Given the description of an element on the screen output the (x, y) to click on. 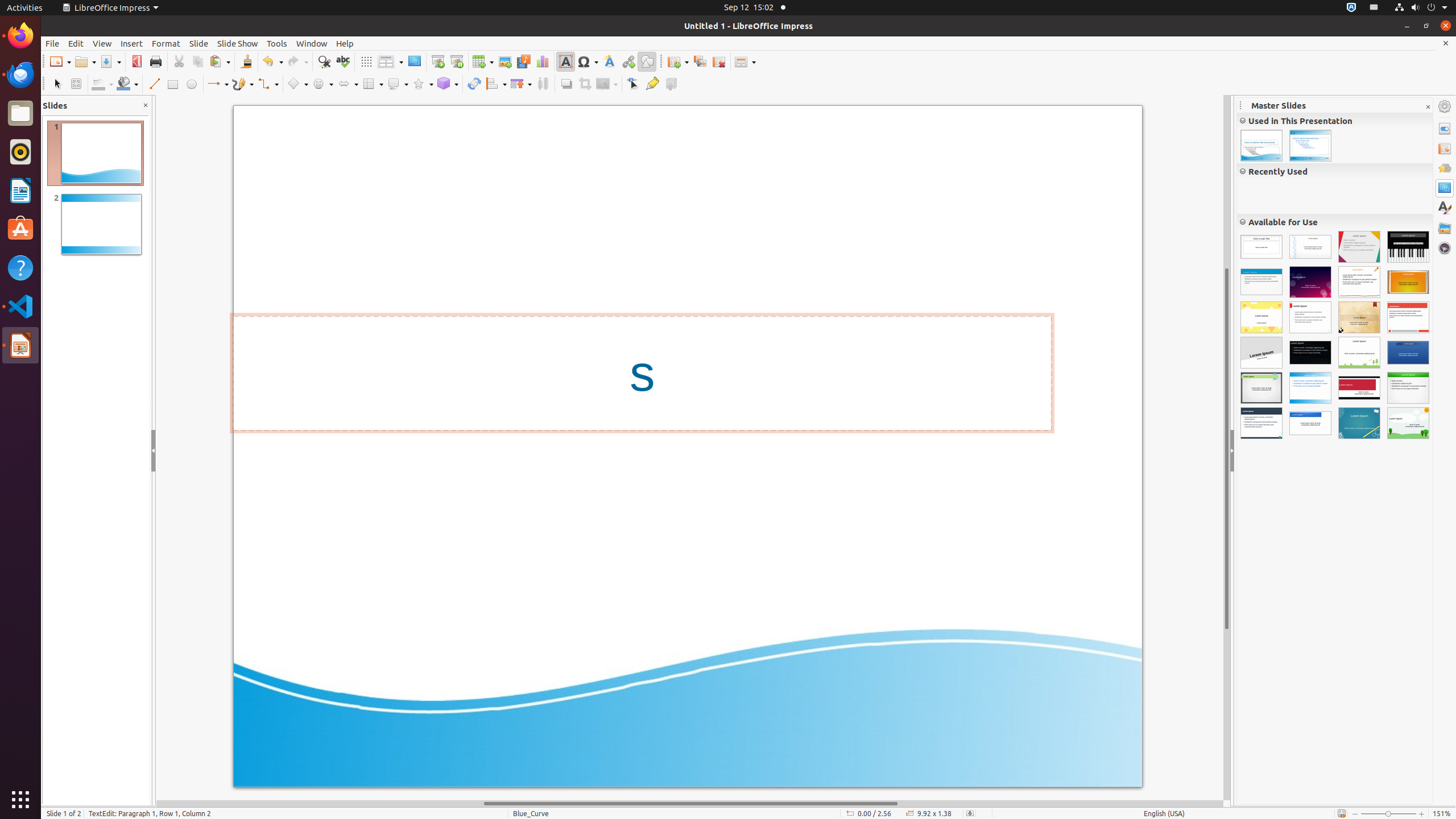
Delete Slide Element type: push-button (718, 61)
Inspiration Element type: list-item (1261, 387)
Copy Element type: push-button (197, 61)
Arrow Shapes Element type: push-button (347, 83)
Start from Current Slide Element type: push-button (456, 61)
